Given the description of an element on the screen output the (x, y) to click on. 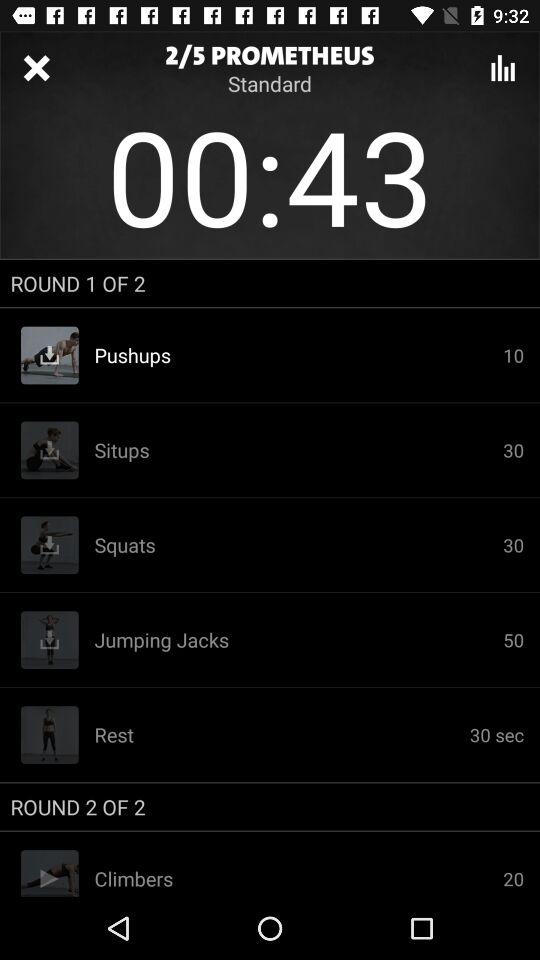
turn off icon next to 2/5 prometheus (36, 68)
